Given the description of an element on the screen output the (x, y) to click on. 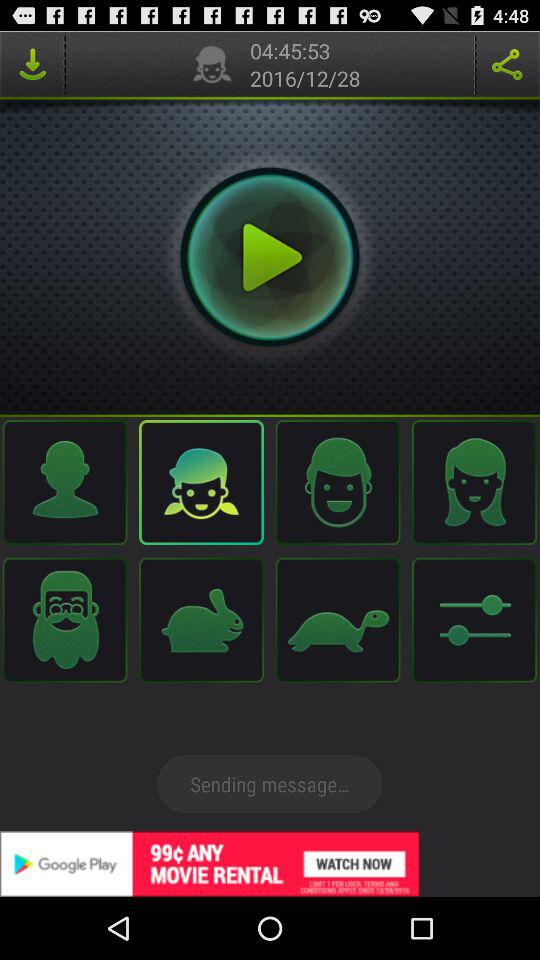
go to downlode (32, 64)
